Given the description of an element on the screen output the (x, y) to click on. 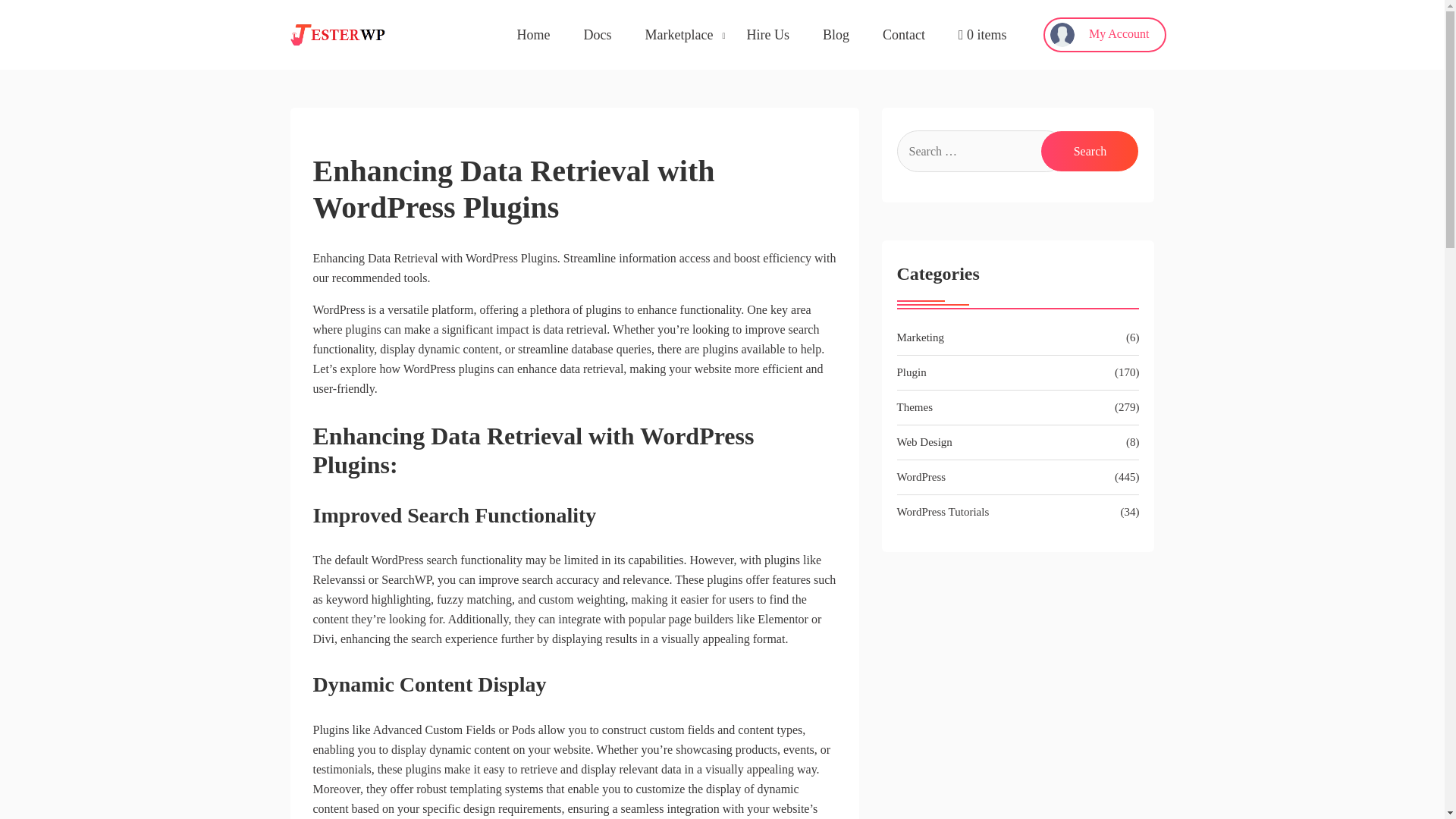
Search (1089, 150)
Docs (597, 34)
Marketplace (679, 34)
View your shopping cart (982, 34)
Hire Us (767, 34)
Contact (903, 34)
Home (533, 34)
0 items (982, 34)
Search (1089, 150)
My Account (1104, 34)
Blog (835, 34)
